Given the description of an element on the screen output the (x, y) to click on. 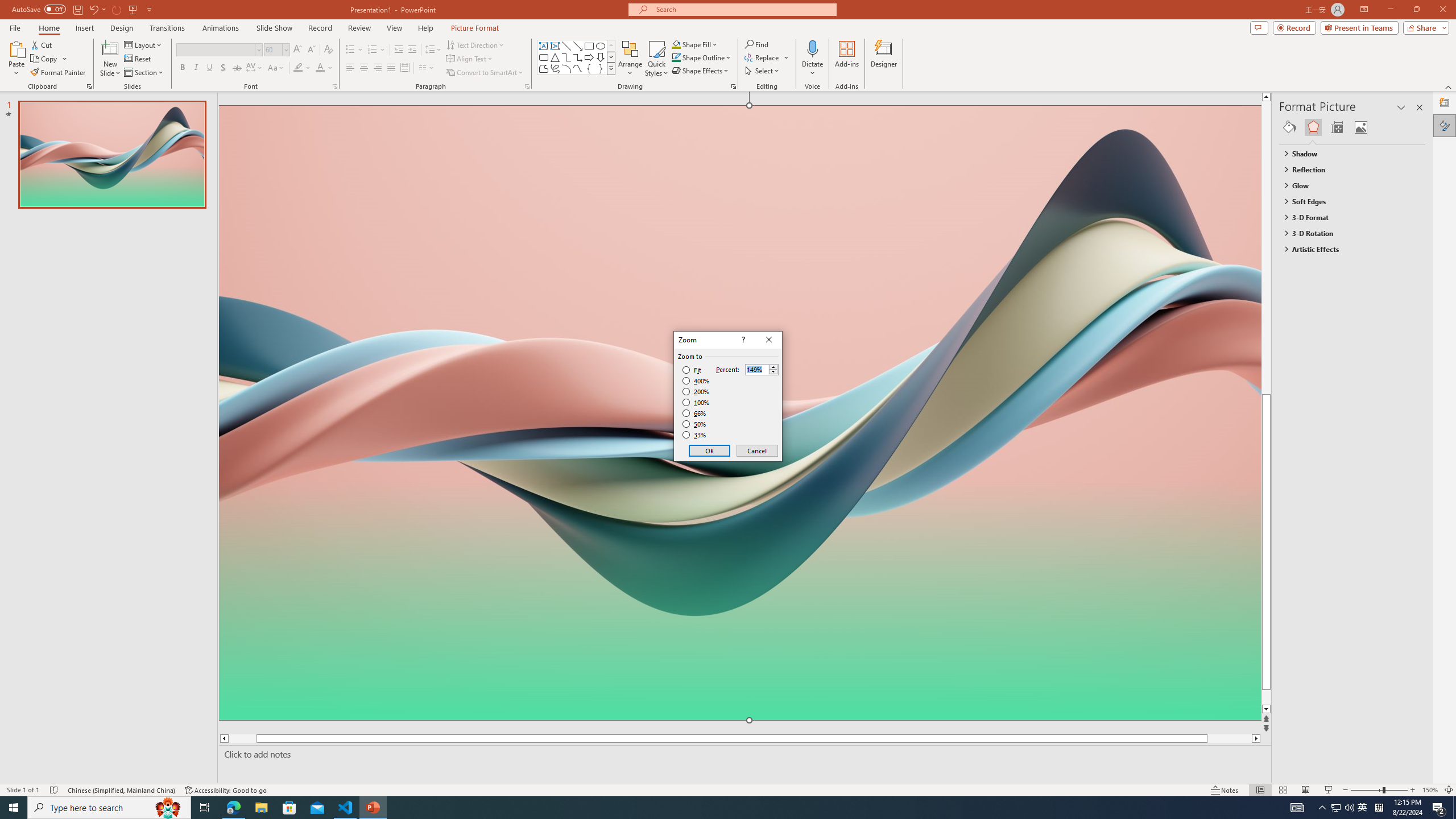
Size & Properties (1336, 126)
